Given the description of an element on the screen output the (x, y) to click on. 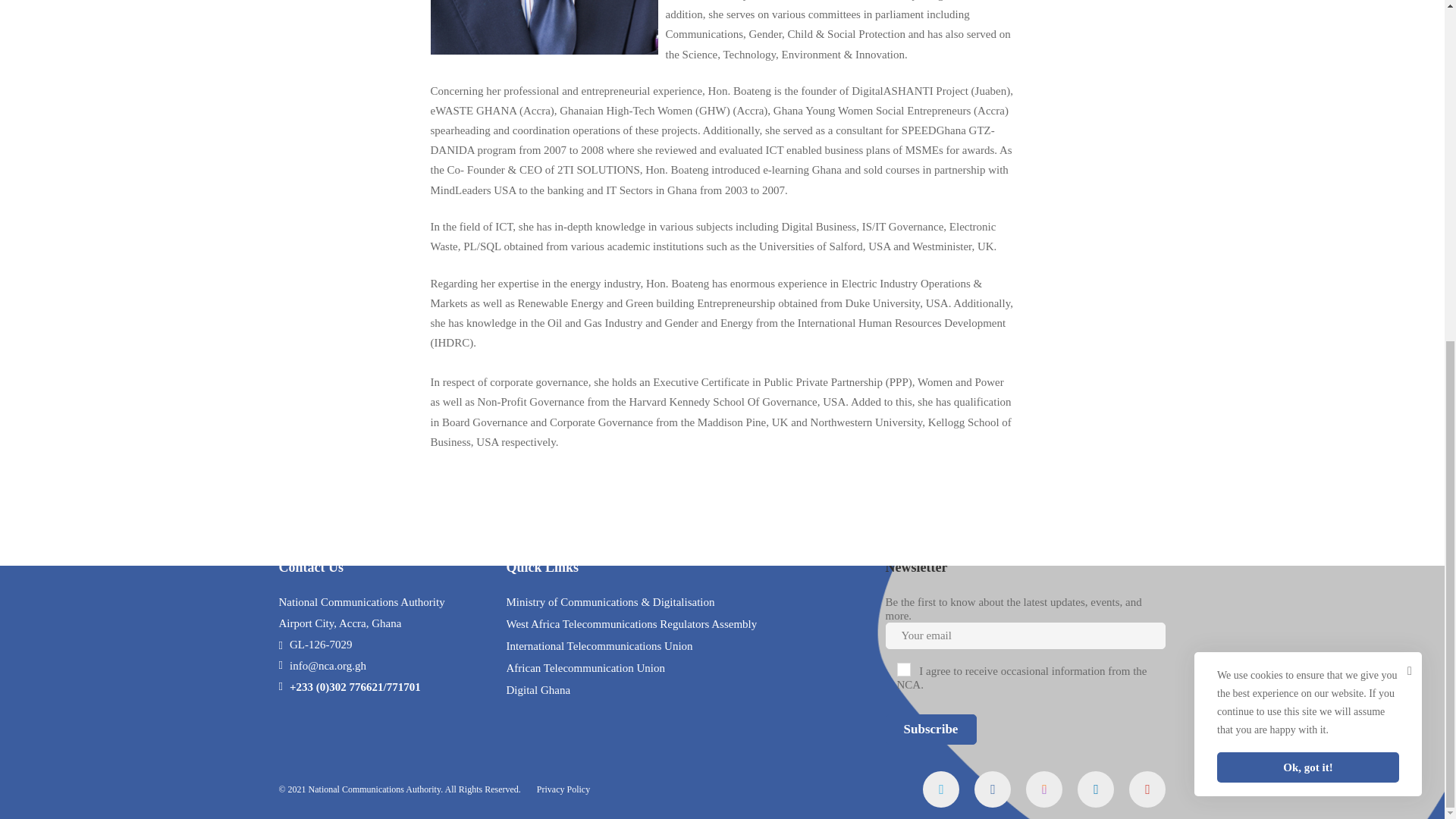
I agree to receive occasional information from the NCA. (903, 89)
Subscribe (930, 149)
